Given the description of an element on the screen output the (x, y) to click on. 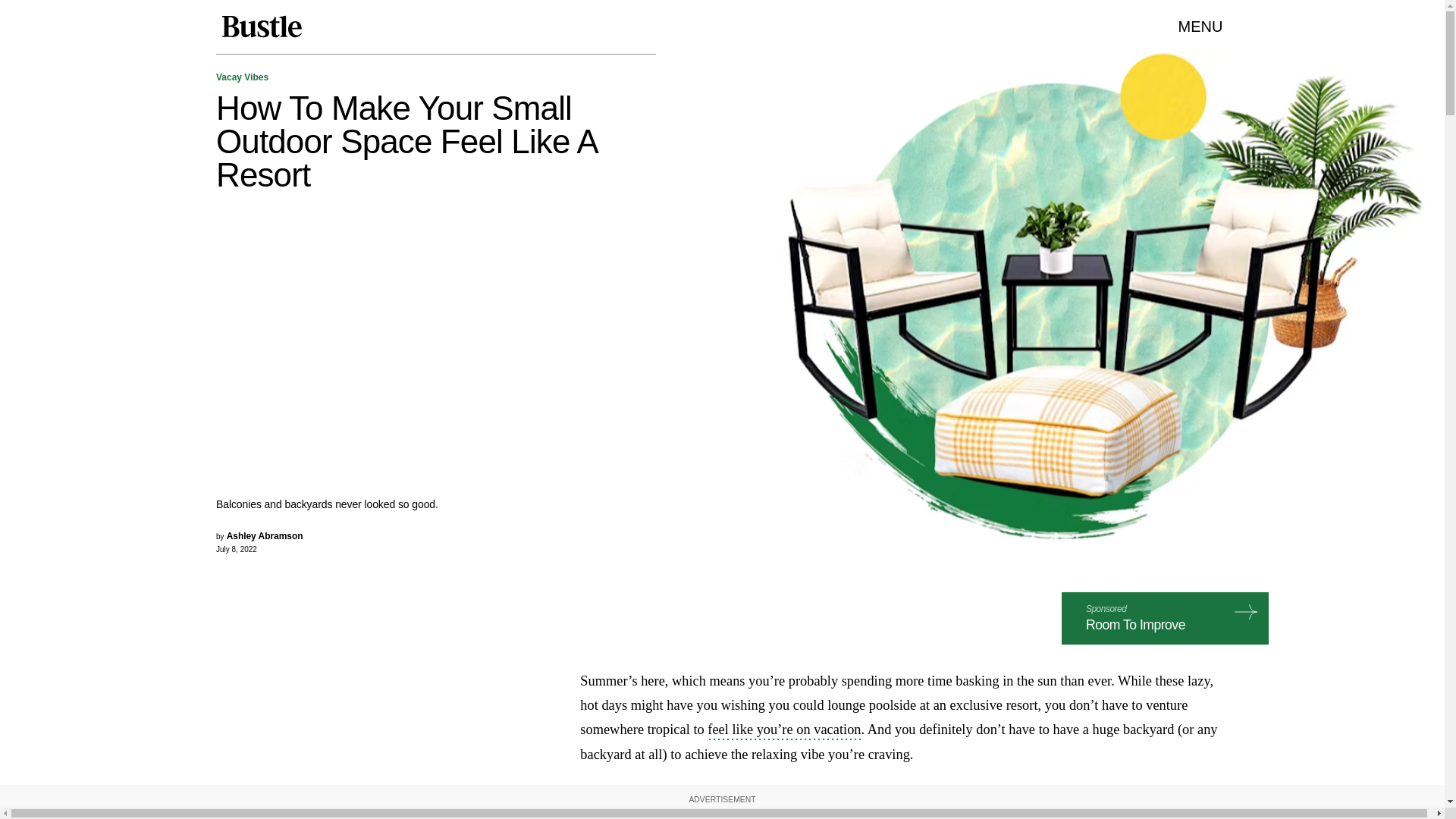
Bustle (261, 26)
